Given the description of an element on the screen output the (x, y) to click on. 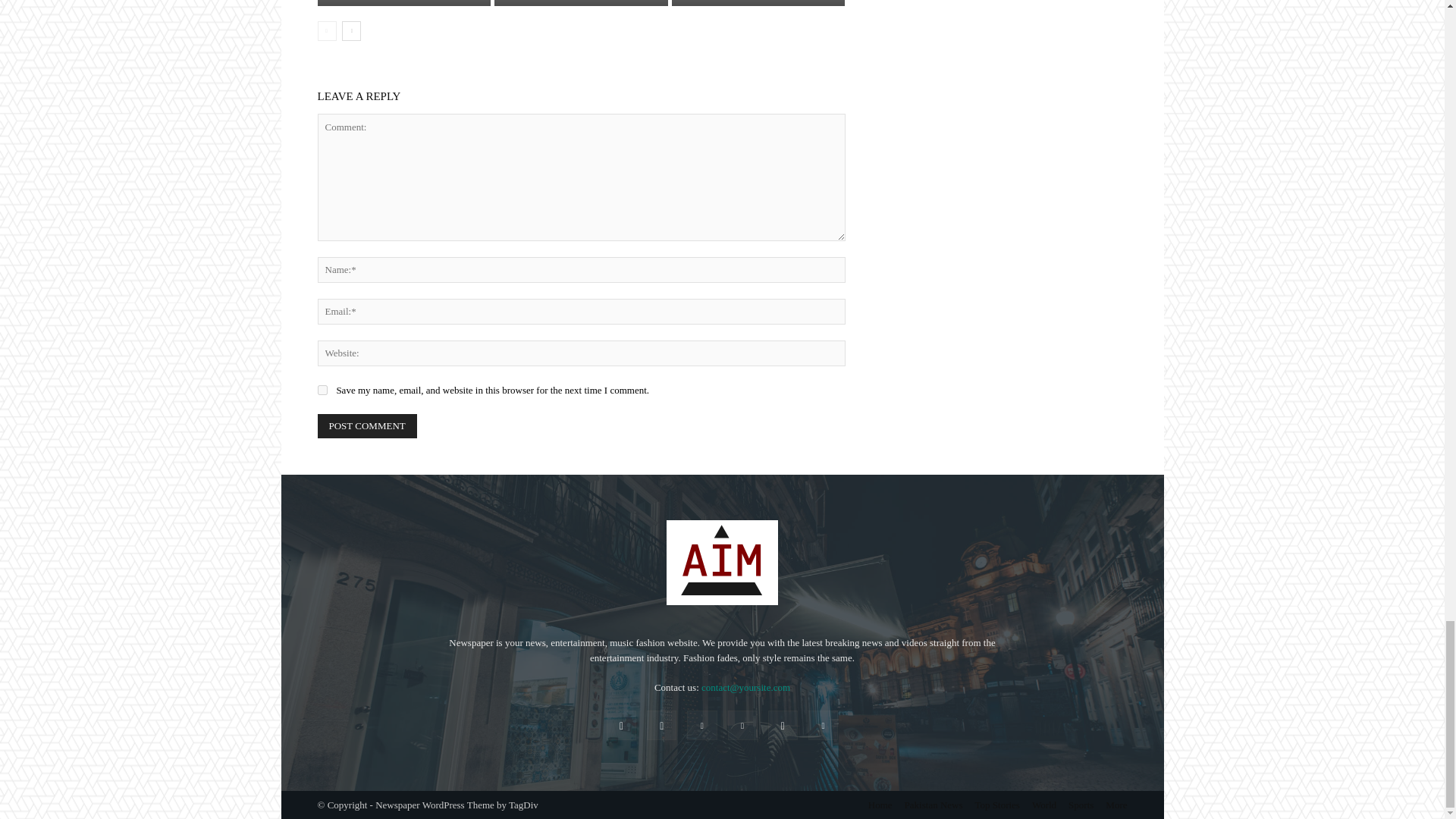
yes (321, 389)
Post Comment (366, 426)
